Given the description of an element on the screen output the (x, y) to click on. 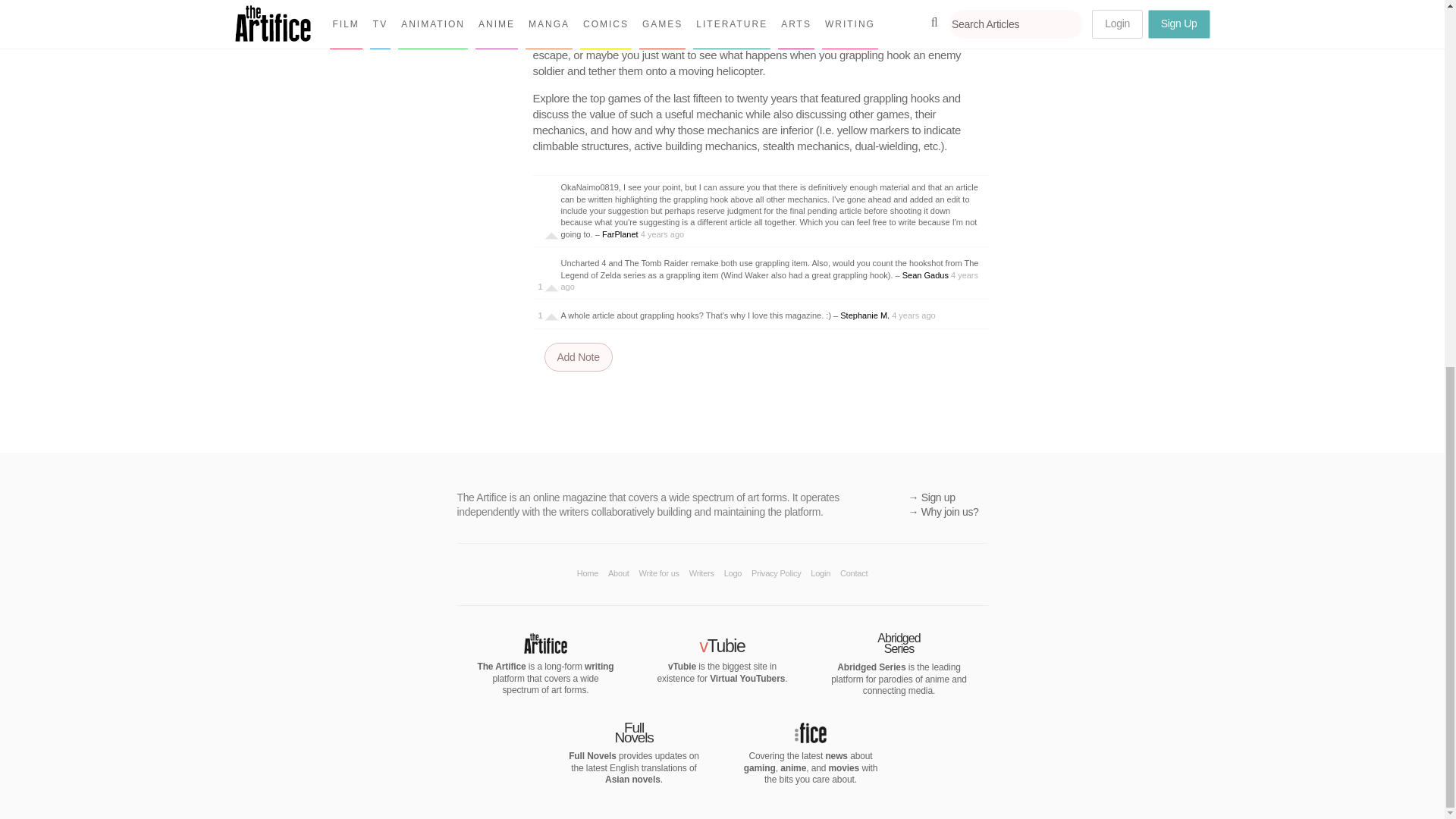
The Artifice (545, 648)
